Given the description of an element on the screen output the (x, y) to click on. 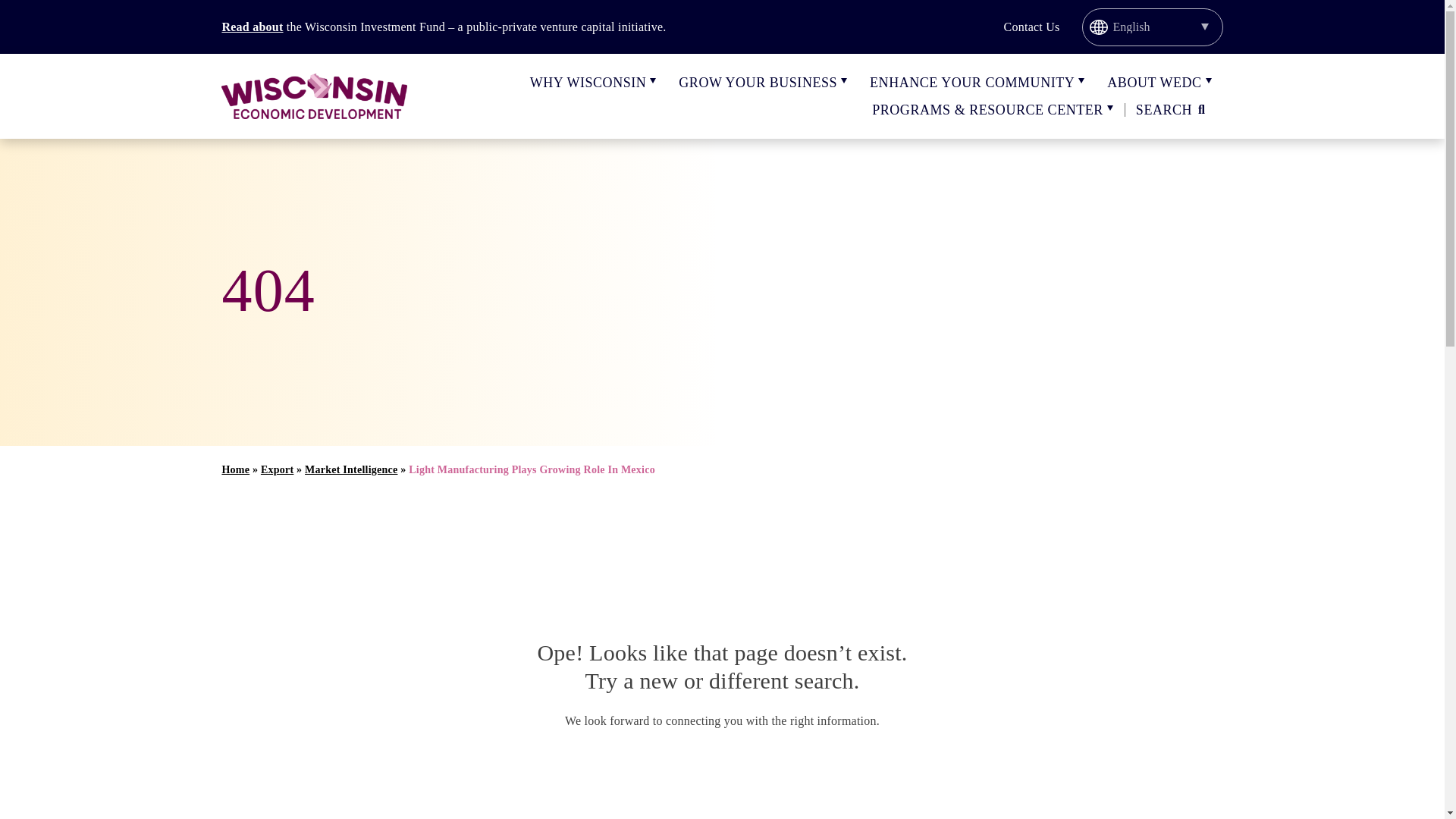
Why Wisconsin (587, 82)
Search (1173, 109)
Wisconsin Investment Fund. (251, 26)
Contact Us (1031, 26)
Contact Us (1031, 26)
Read about (251, 26)
WHY WISCONSIN (587, 82)
